Given the description of an element on the screen output the (x, y) to click on. 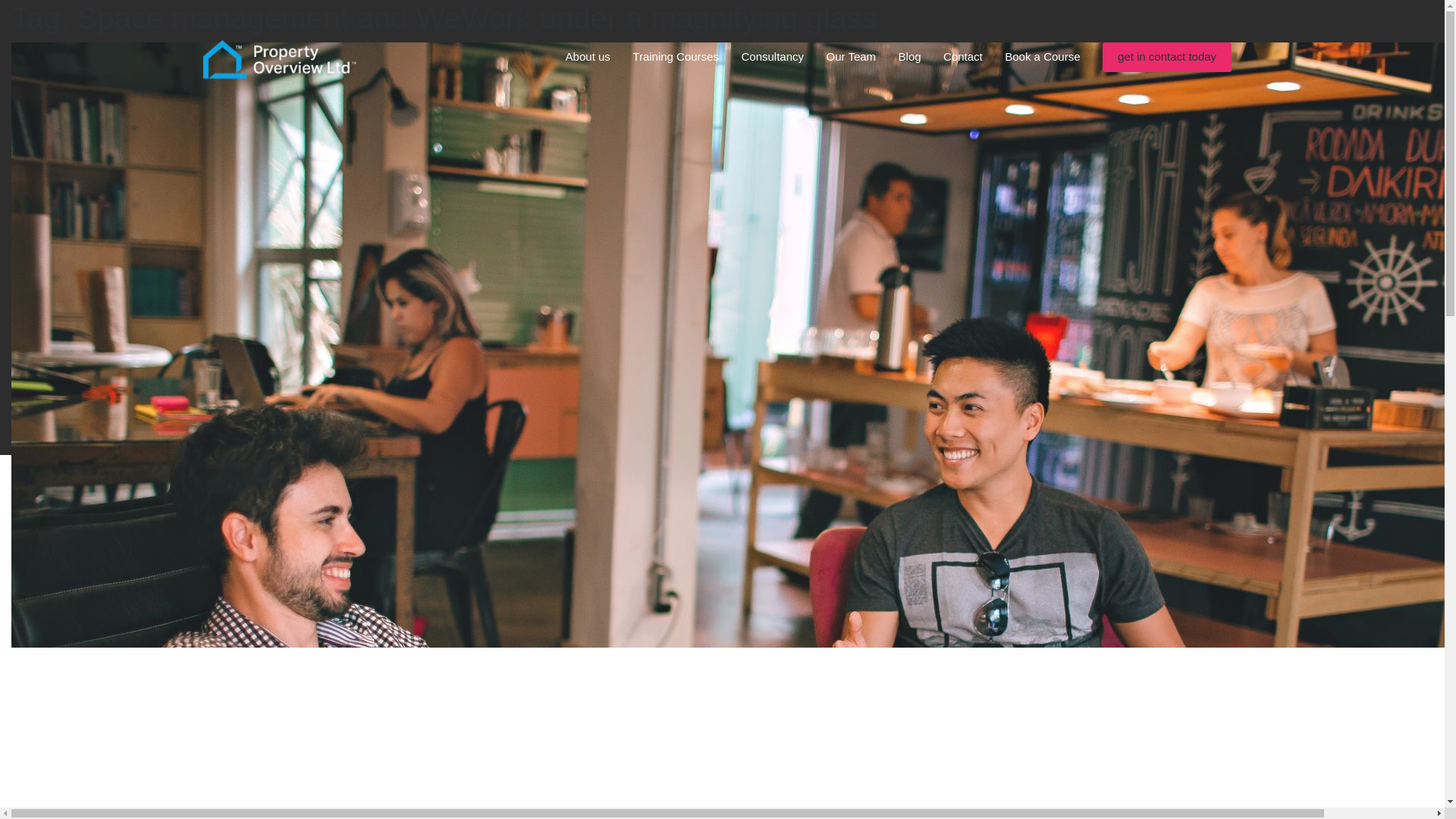
Our Team (850, 57)
Contact (962, 57)
get in contact today (1166, 57)
Consultancy (772, 57)
About us (588, 57)
Book a Course (1042, 57)
Our Team (850, 57)
Contact (962, 57)
Training Courses (675, 57)
About us (588, 57)
